Given the description of an element on the screen output the (x, y) to click on. 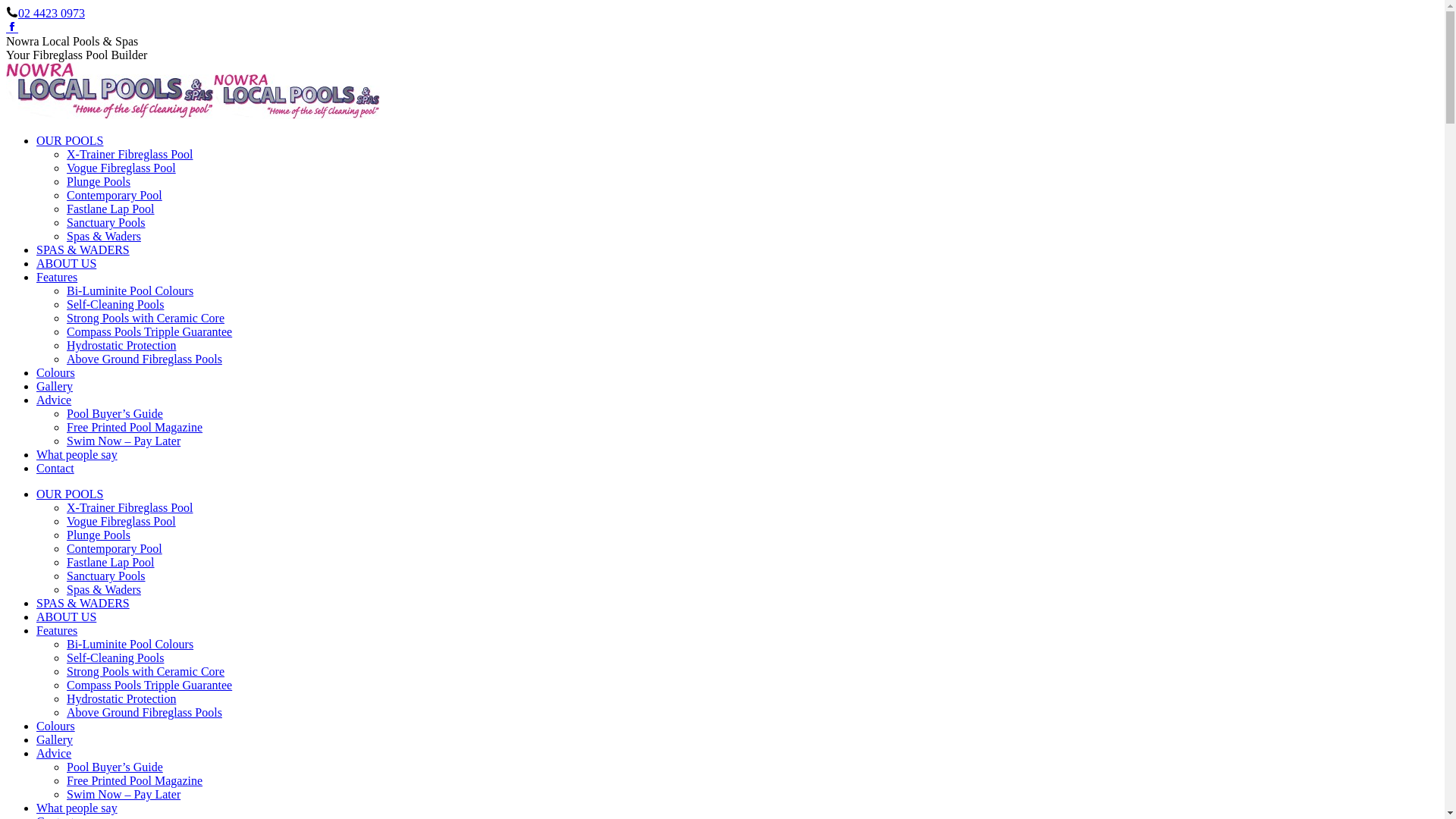
Compass Pools Tripple Guarantee Element type: text (149, 331)
Spas & Waders Element type: text (103, 235)
Hydrostatic Protection Element type: text (120, 698)
Free Printed Pool Magazine Element type: text (134, 426)
Self-Cleaning Pools Element type: text (114, 304)
Plunge Pools Element type: text (98, 534)
Gallery Element type: text (54, 739)
Fastlane Lap Pool Element type: text (110, 561)
Facebook page opens in new window Element type: text (12, 27)
ABOUT US Element type: text (66, 263)
Sanctuary Pools Element type: text (105, 575)
Vogue Fibreglass Pool Element type: text (120, 167)
Contact Element type: text (55, 467)
Gallery Element type: text (54, 385)
Free Printed Pool Magazine Element type: text (134, 780)
Bi-Luminite Pool Colours Element type: text (129, 643)
Vogue Fibreglass Pool Element type: text (120, 520)
Features Element type: text (56, 630)
X-Trainer Fibreglass Pool Element type: text (129, 507)
02 4423 0973 Element type: text (51, 12)
What people say Element type: text (76, 807)
Advice Element type: text (53, 399)
Colours Element type: text (55, 725)
What people say Element type: text (76, 454)
Hydrostatic Protection Element type: text (120, 344)
Contemporary Pool Element type: text (114, 194)
Compass Pools Tripple Guarantee Element type: text (149, 684)
Strong Pools with Ceramic Core Element type: text (145, 671)
X-Trainer Fibreglass Pool Element type: text (129, 153)
Contemporary Pool Element type: text (114, 548)
Above Ground Fibreglass Pools Element type: text (144, 712)
Features Element type: text (56, 276)
Above Ground Fibreglass Pools Element type: text (144, 358)
Fastlane Lap Pool Element type: text (110, 208)
OUR POOLS Element type: text (69, 493)
OUR POOLS Element type: text (69, 140)
Sanctuary Pools Element type: text (105, 222)
SPAS & WADERS Element type: text (82, 249)
SPAS & WADERS Element type: text (82, 602)
Colours Element type: text (55, 372)
Skip to content Element type: text (5, 5)
ABOUT US Element type: text (66, 616)
Strong Pools with Ceramic Core Element type: text (145, 317)
Self-Cleaning Pools Element type: text (114, 657)
Plunge Pools Element type: text (98, 181)
Spas & Waders Element type: text (103, 589)
Advice Element type: text (53, 752)
Bi-Luminite Pool Colours Element type: text (129, 290)
